Given the description of an element on the screen output the (x, y) to click on. 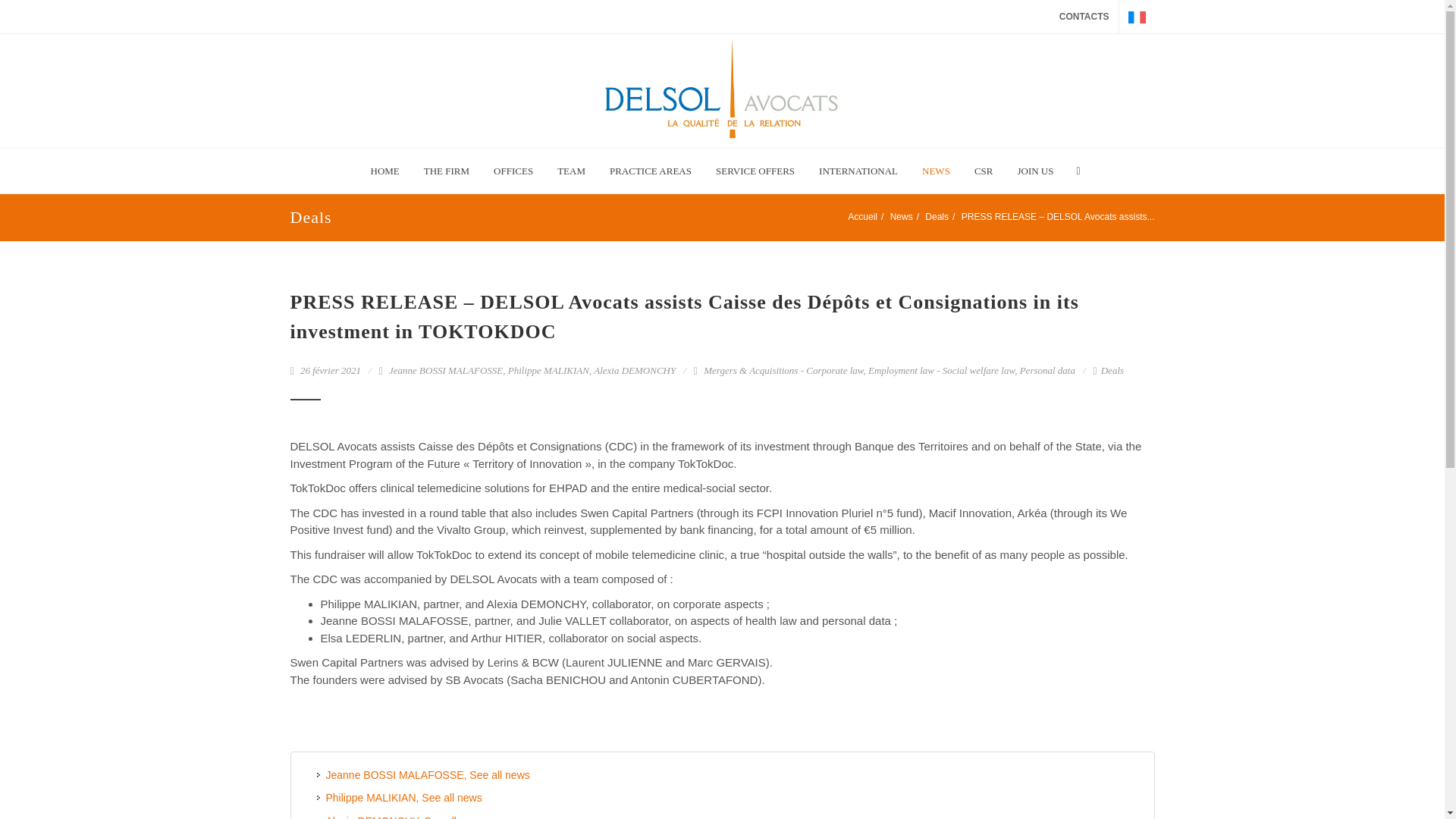
CONTACTS (1083, 16)
THE FIRM (446, 171)
HOME (384, 171)
OFFICES (512, 171)
SERVICE OFFERS (755, 171)
TEAM (571, 171)
PRACTICE AREAS (650, 171)
